Given the description of an element on the screen output the (x, y) to click on. 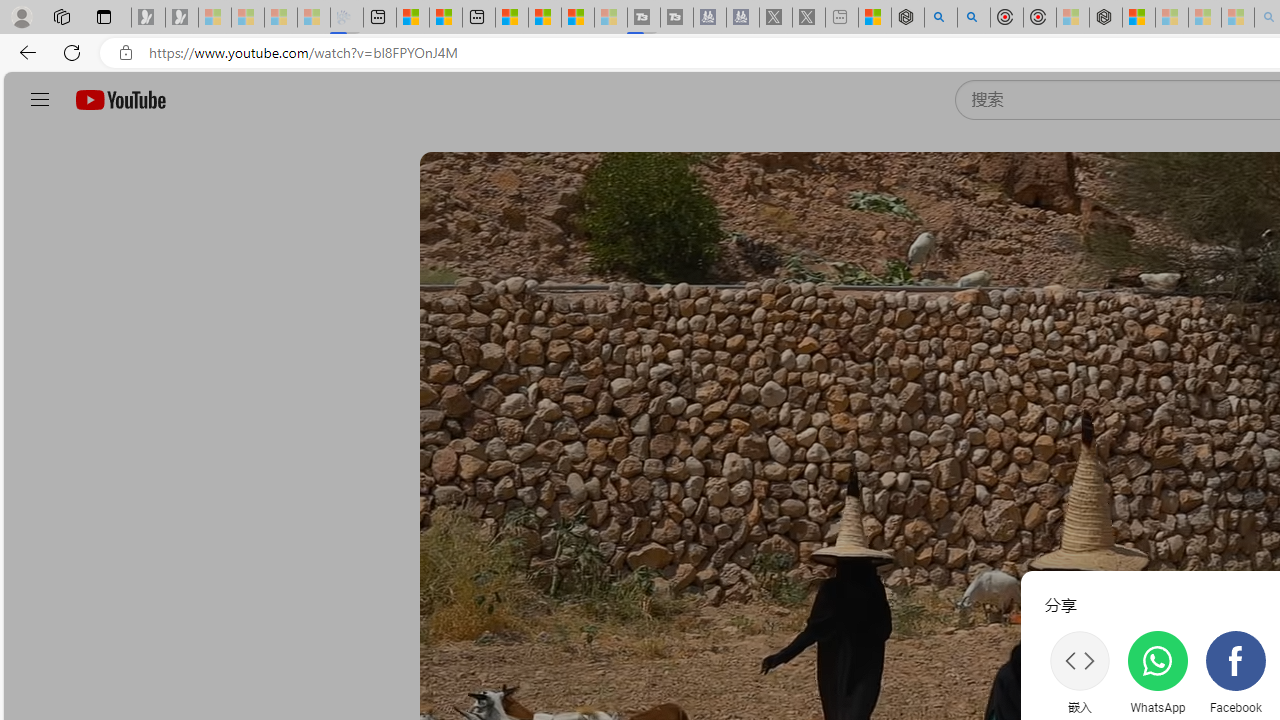
poe ++ standard - Search (973, 17)
Newsletter Sign Up - Sleeping (182, 17)
